Given the description of an element on the screen output the (x, y) to click on. 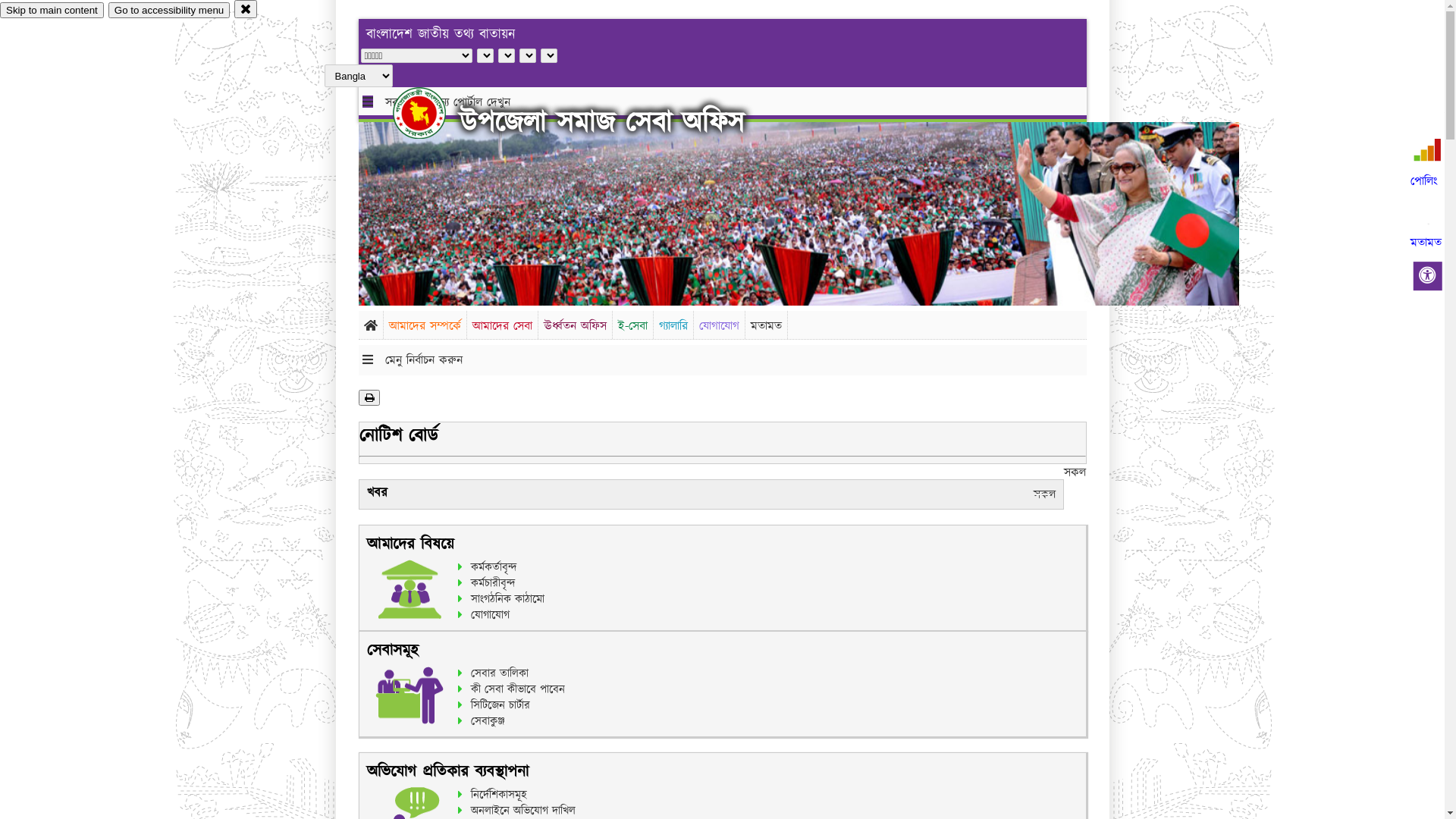
Skip to main content Element type: text (51, 10)

                
             Element type: hover (431, 112)
Go to accessibility menu Element type: text (168, 10)
close Element type: hover (245, 9)
